Given the description of an element on the screen output the (x, y) to click on. 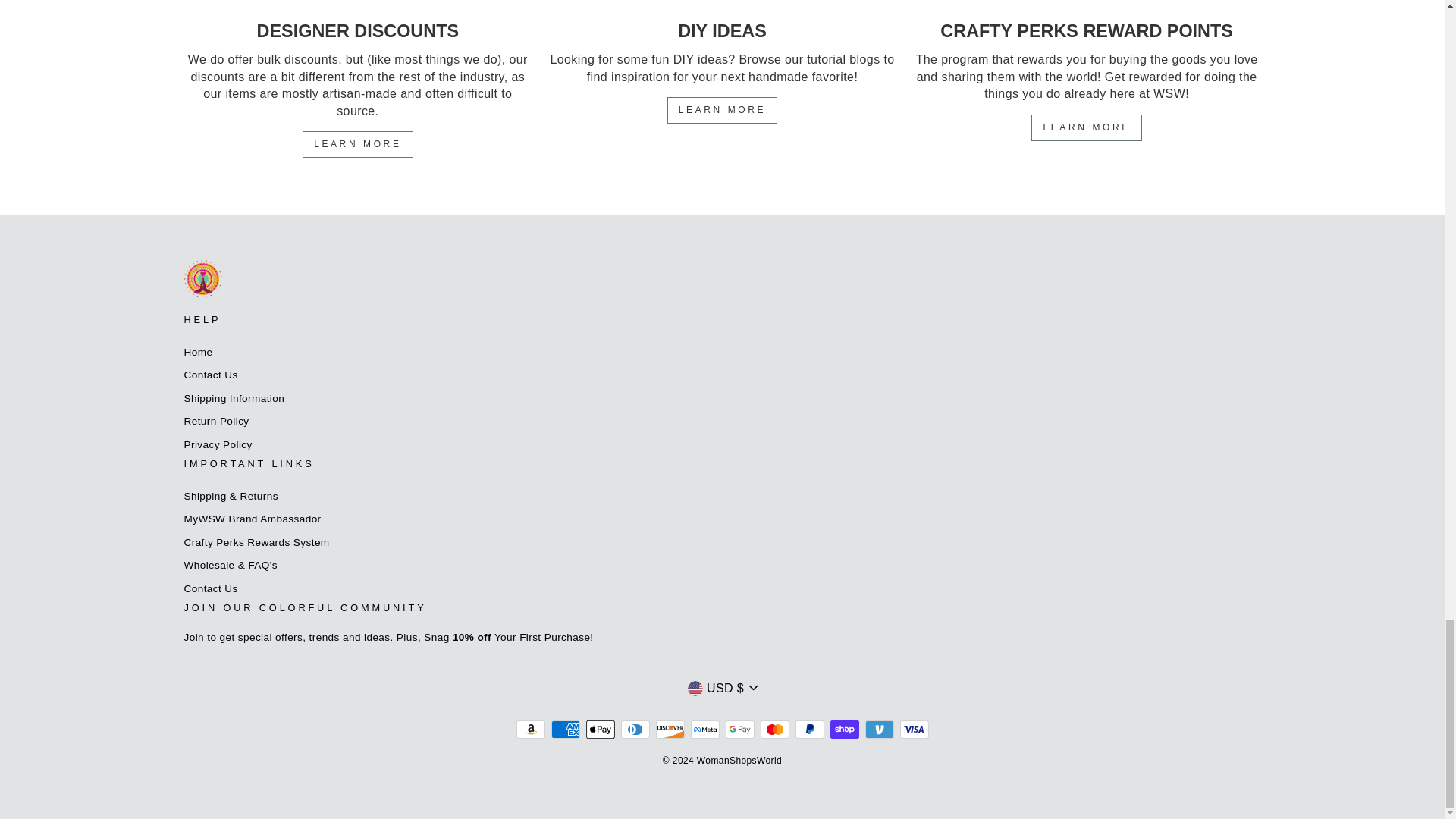
Diners Club (634, 729)
Apple Pay (599, 729)
Meta Pay (704, 729)
Discover (669, 729)
Amazon (529, 729)
American Express (564, 729)
